Given the description of an element on the screen output the (x, y) to click on. 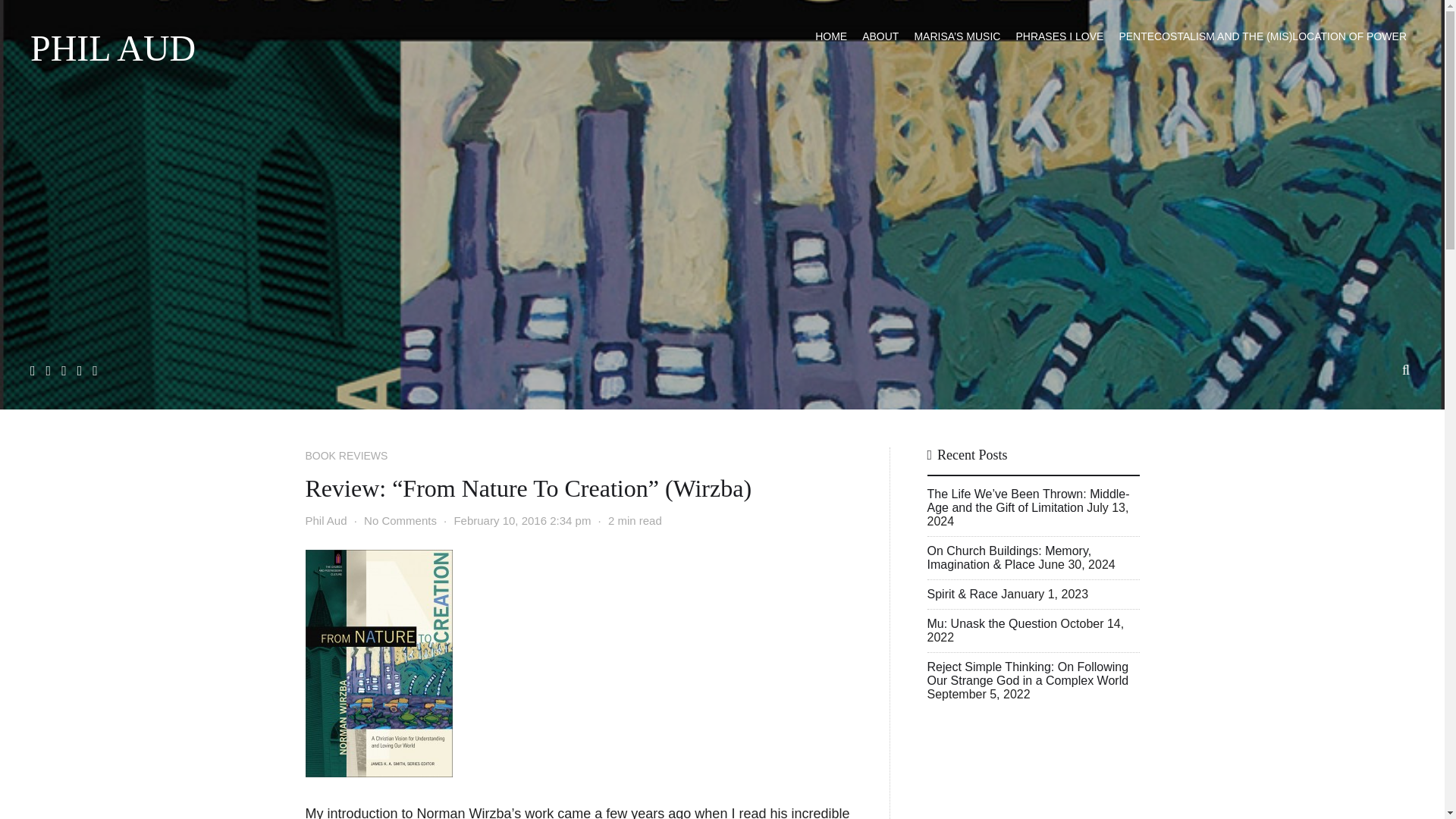
Phil Aud (325, 520)
Home (831, 36)
Mu: Unask the Question (991, 623)
BOOK REVIEWS (345, 455)
Posts by Phil Aud (325, 520)
PHRASES I LOVE (1058, 36)
February 10, 2016 2:34 pm (521, 520)
No Comments (400, 520)
PHIL AUD (112, 48)
HOME (831, 36)
ABOUT (879, 36)
